Given the description of an element on the screen output the (x, y) to click on. 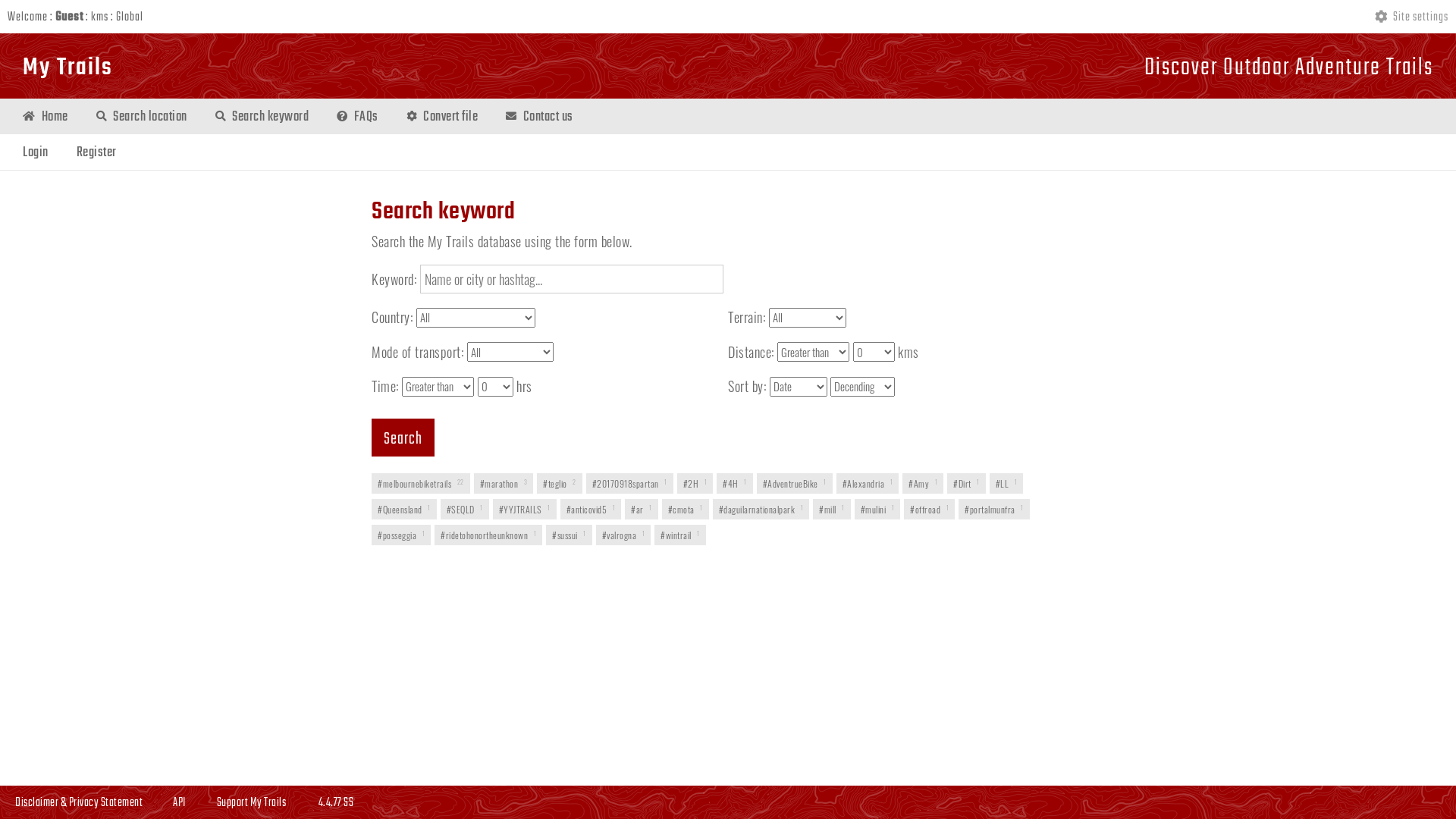
#4H 1 Element type: text (734, 483)
Search location Element type: text (139, 117)
Convert file Element type: text (441, 117)
#Alexandria 1 Element type: text (866, 483)
Search Element type: text (402, 437)
#YYJTRAILS 1 Element type: text (524, 508)
#marathon 3 Element type: text (503, 483)
#cmota 1 Element type: text (684, 508)
FAQs Element type: text (356, 117)
Support My Trails Element type: text (251, 802)
Home Element type: text (44, 117)
#mill 1 Element type: text (831, 508)
#teglio 2 Element type: text (559, 483)
#ridetohonortheunknown 1 Element type: text (488, 534)
Site settings Element type: text (1411, 17)
Contact us Element type: text (538, 117)
#SEQLD 1 Element type: text (463, 508)
#Amy 1 Element type: text (922, 483)
#sussui 1 Element type: text (569, 534)
#2H 1 Element type: text (694, 483)
#Dirt 1 Element type: text (966, 483)
Advertisement Element type: hover (727, 605)
#ar 1 Element type: text (641, 508)
Search keyword Element type: text (261, 117)
#20170918spartan 1 Element type: text (628, 483)
#wintrail 1 Element type: text (680, 534)
#daguilarnationalpark 1 Element type: text (760, 508)
API Element type: text (179, 802)
#mulini 1 Element type: text (876, 508)
Disclaimer & Privacy Statement Element type: text (78, 802)
#Queensland 1 Element type: text (403, 508)
#offroad 1 Element type: text (928, 508)
#portalmunfra 1 Element type: text (993, 508)
#posseggia 1 Element type: text (400, 534)
Register Element type: text (94, 153)
Login Element type: text (34, 153)
#anticovid5 1 Element type: text (590, 508)
#LL 1 Element type: text (1005, 483)
#melbournebiketrails 22 Element type: text (420, 483)
#AdventrueBike 1 Element type: text (794, 483)
#valrogna 1 Element type: text (623, 534)
